Given the description of an element on the screen output the (x, y) to click on. 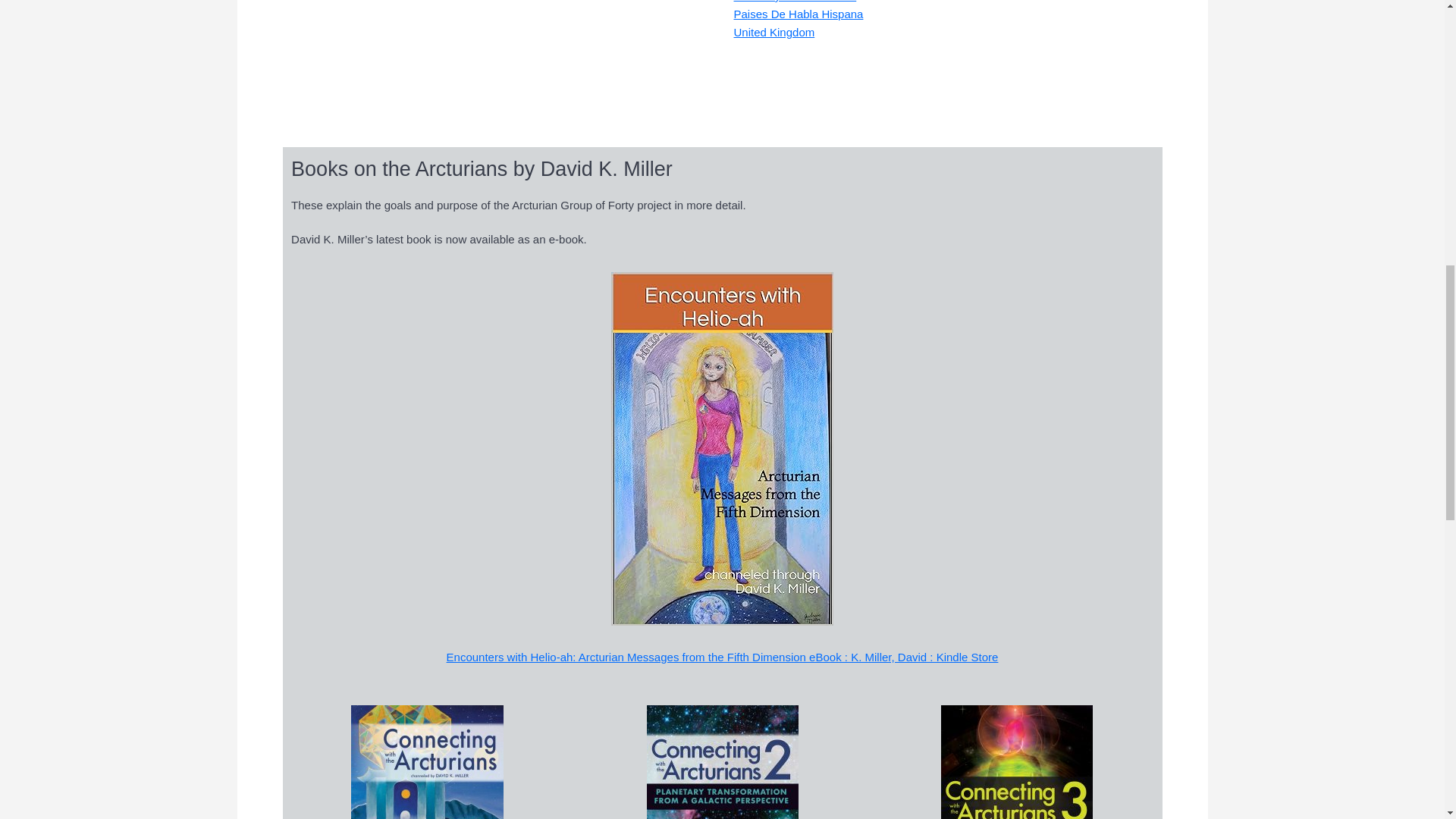
United Kingdom (774, 31)
Welcome to the Group of Forty Youtube Channel (471, 58)
ises De Habla Hispana (805, 13)
Pa (740, 13)
